Given the description of an element on the screen output the (x, y) to click on. 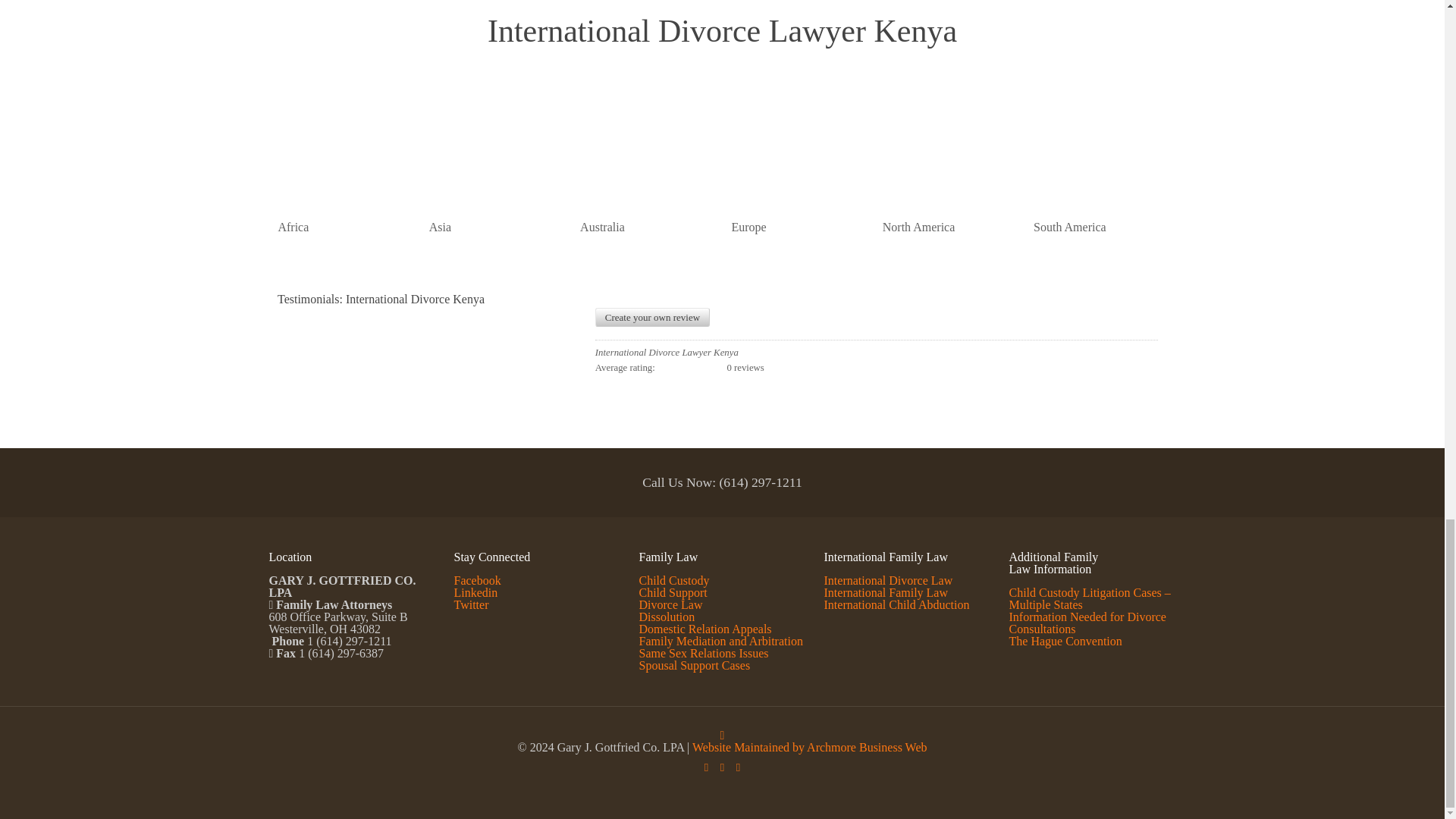
LinkedIn (738, 767)
Facebook (705, 767)
